Given the description of an element on the screen output the (x, y) to click on. 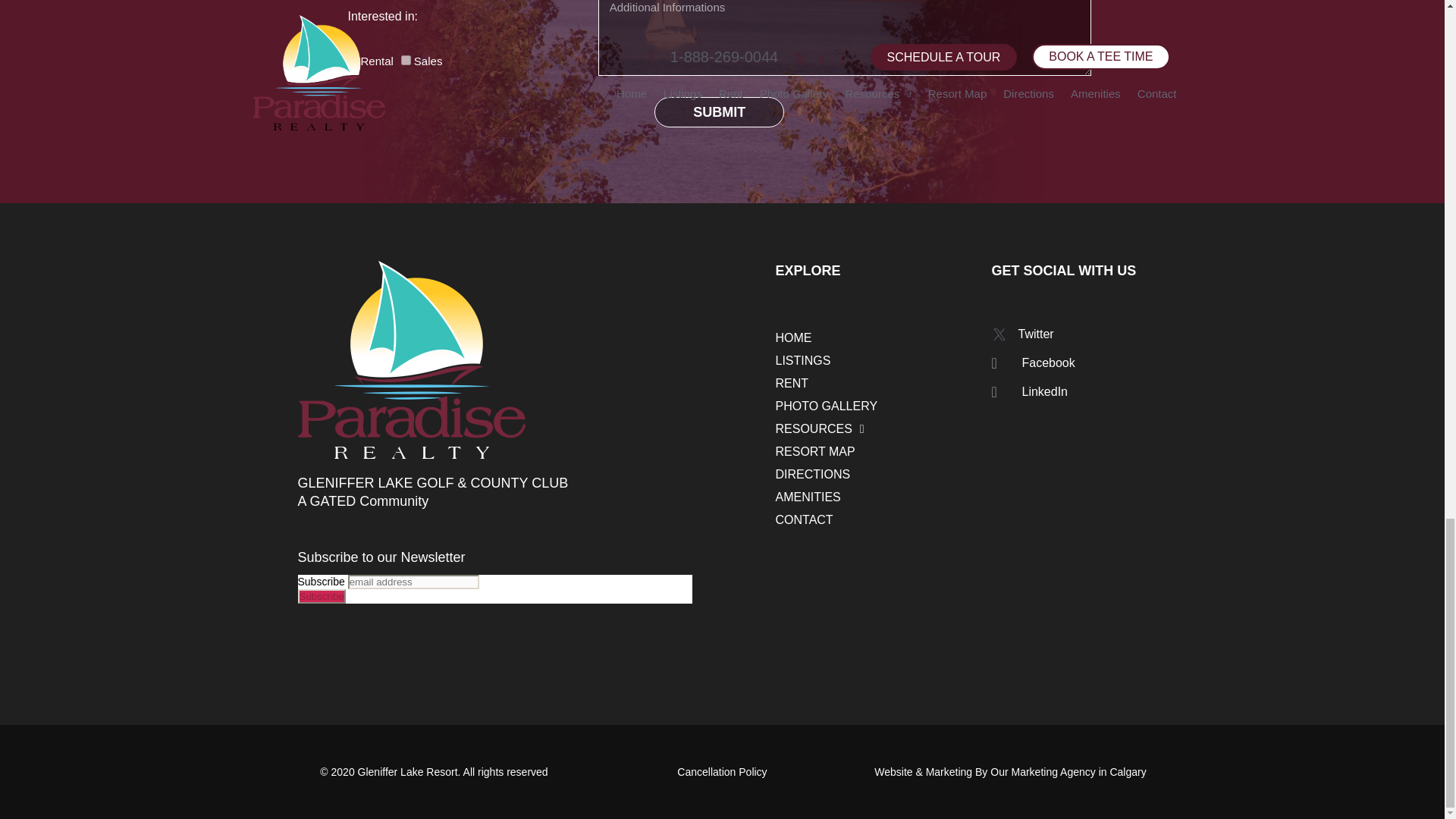
Rental (351, 60)
Subscribe (321, 595)
Sales (405, 60)
